Given the description of an element on the screen output the (x, y) to click on. 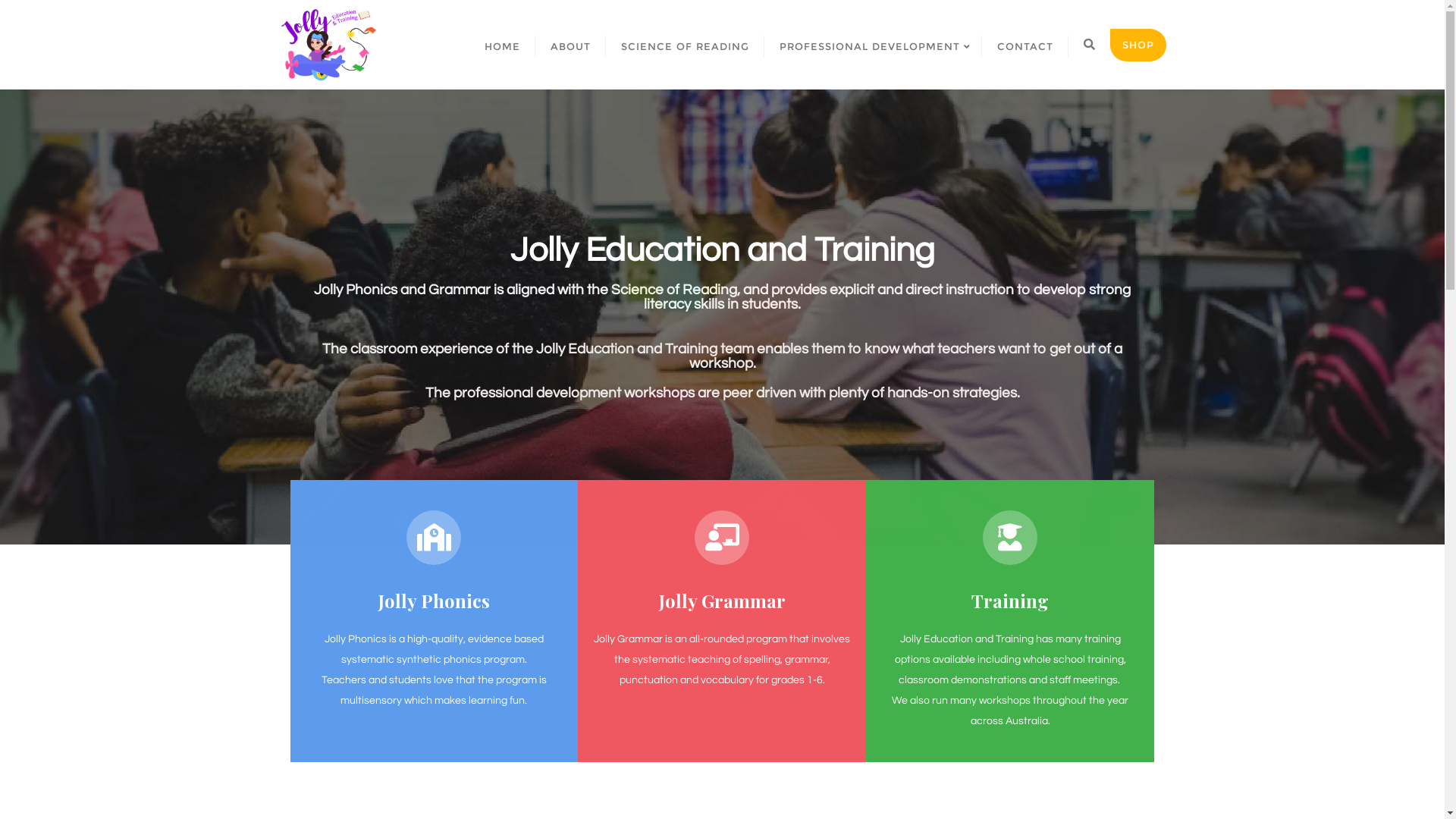
SHOP Element type: text (1138, 44)
HOME Element type: text (501, 45)
ABOUT Element type: text (570, 45)
SCIENCE OF READING Element type: text (684, 45)
CONTACT Element type: text (1024, 45)
PROFESSIONAL DEVELOPMENT Element type: text (873, 45)
